Given the description of an element on the screen output the (x, y) to click on. 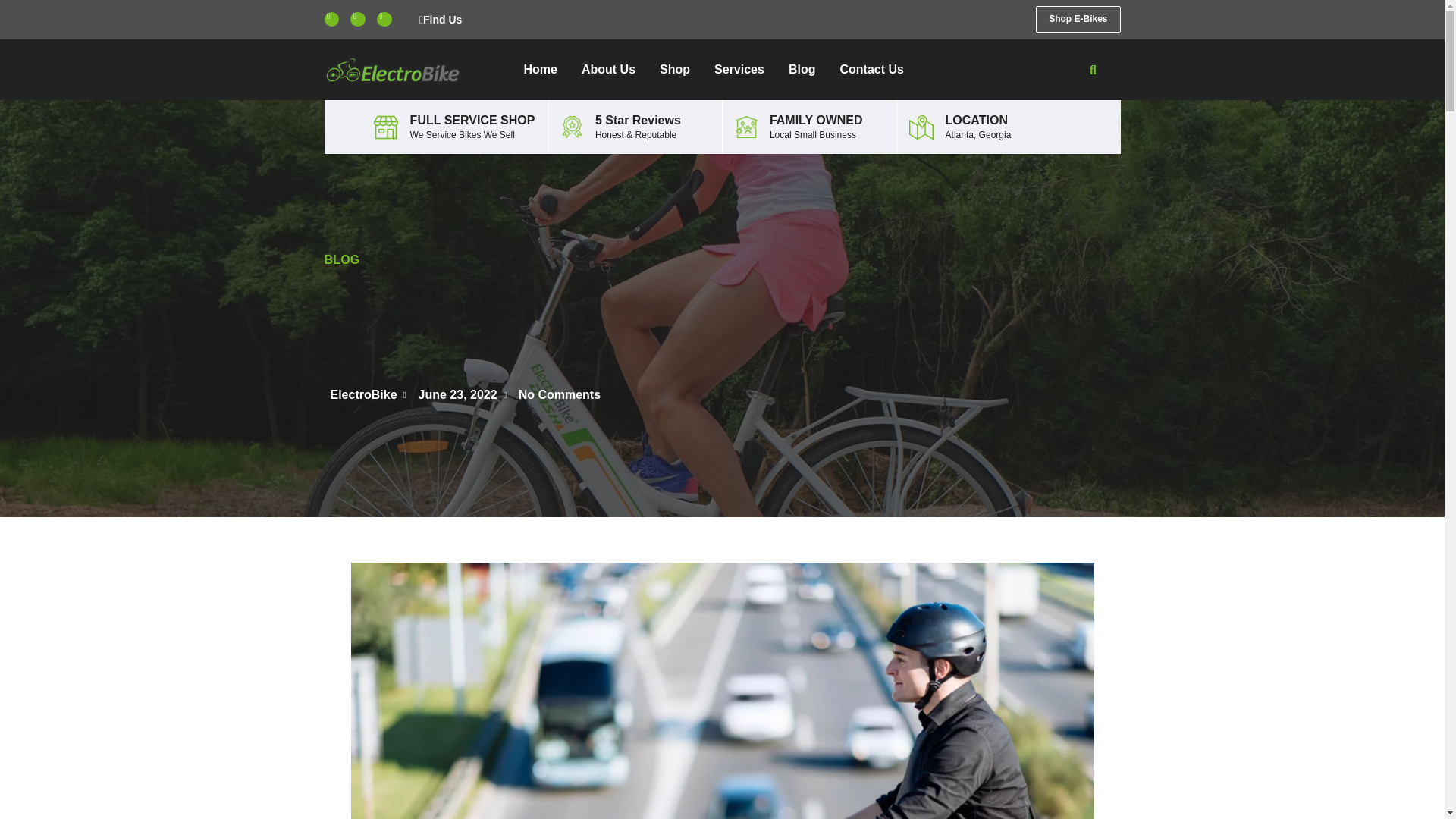
noun-family-business-3767723-76BC21 (746, 127)
Find Us (434, 19)
Shop E-Bikes (1077, 18)
Electro Bike Atlanta Georgia (385, 127)
Electro Bike Atlanta Georgia (571, 127)
noun-pin-map-1149612-76BC21 (920, 127)
Contact Us (871, 69)
